Given the description of an element on the screen output the (x, y) to click on. 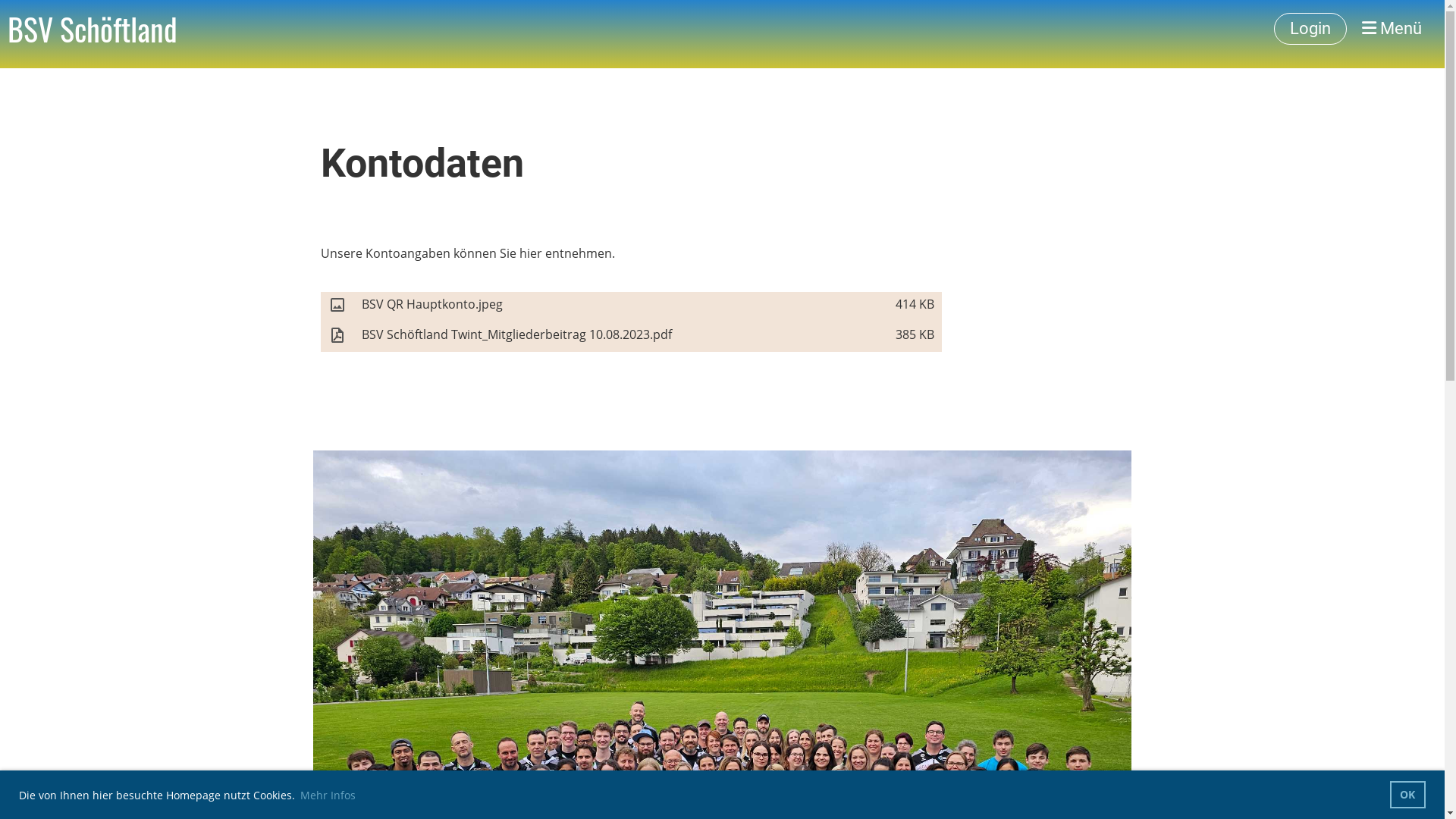
BSV QR Hauptkonto.jpeg 414 KB Element type: text (630, 306)
Mehr Infos Element type: text (327, 794)
Login Element type: text (1310, 28)
OK Element type: text (1407, 794)
